Given the description of an element on the screen output the (x, y) to click on. 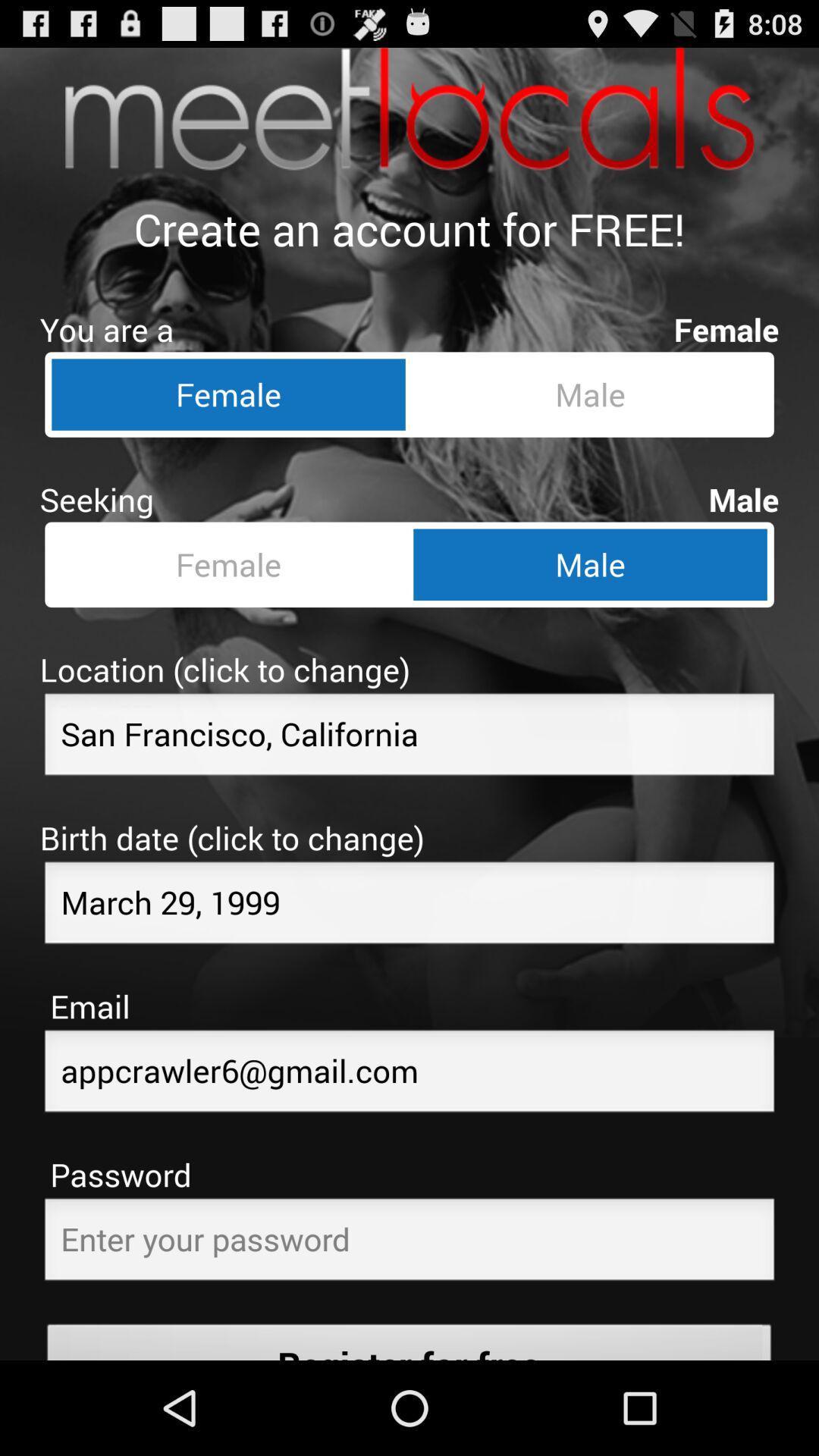
toggle birth date (409, 906)
